Given the description of an element on the screen output the (x, y) to click on. 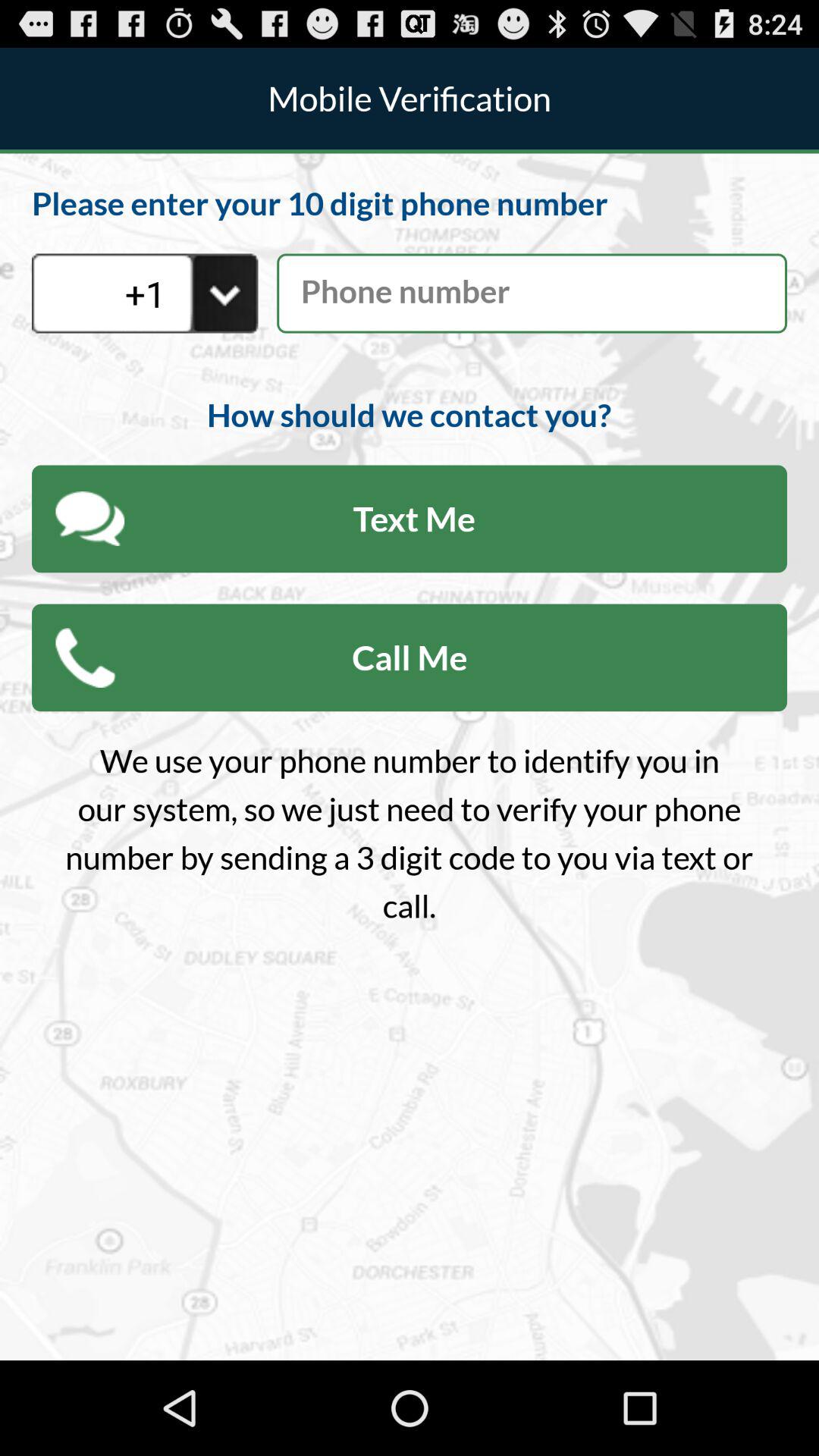
insert phone number (531, 293)
